Given the description of an element on the screen output the (x, y) to click on. 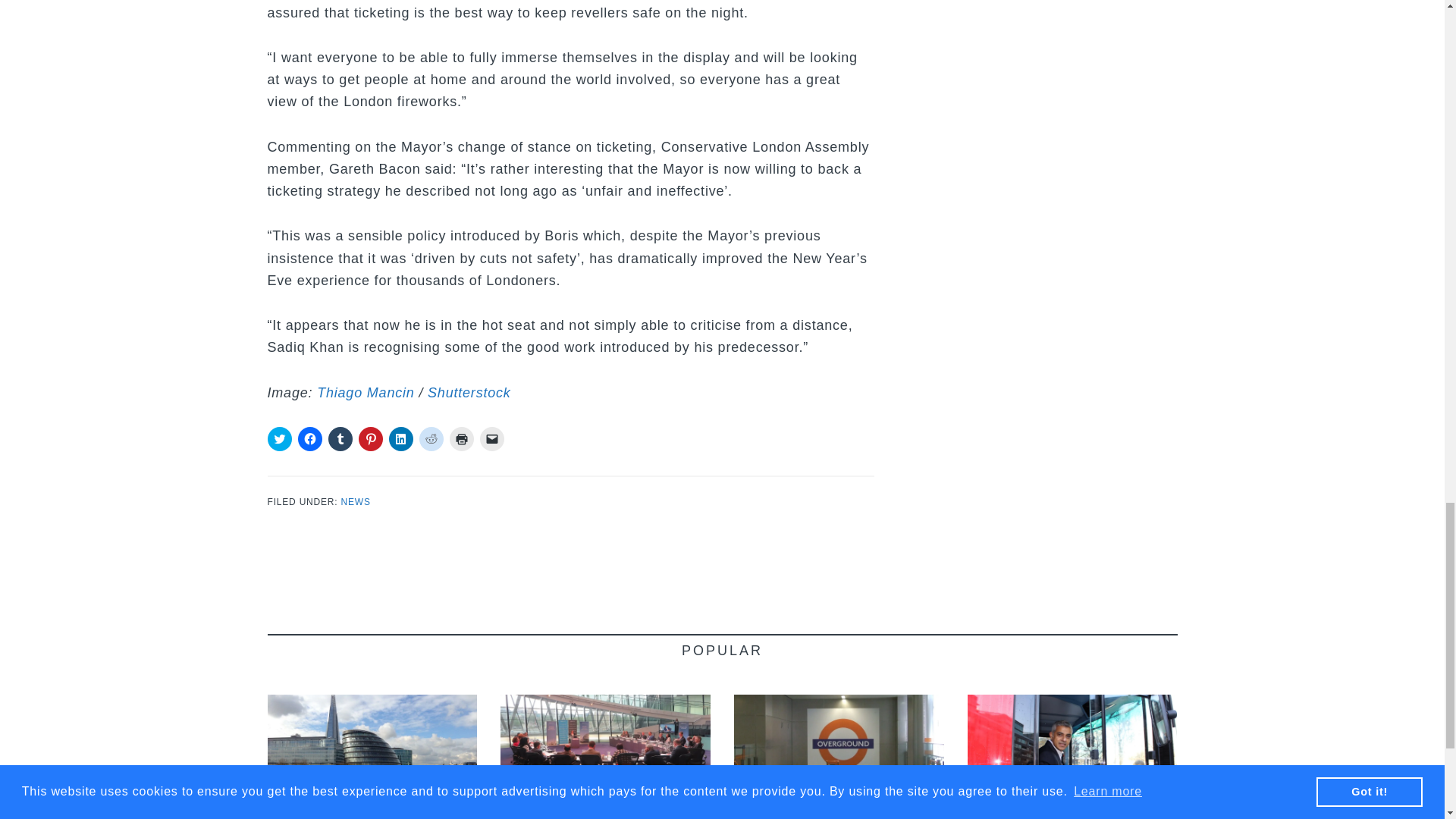
Click to share on Reddit (430, 438)
Thiago Mancin (365, 392)
Click to share on Facebook (309, 438)
Click to share on Twitter (278, 438)
Click to email a link to a friend (491, 438)
Click to share on Tumblr (339, 438)
Click to share on LinkedIn (400, 438)
Shutterstock (469, 392)
NEWS (355, 501)
Click to share on Pinterest (369, 438)
Click to print (460, 438)
